Given the description of an element on the screen output the (x, y) to click on. 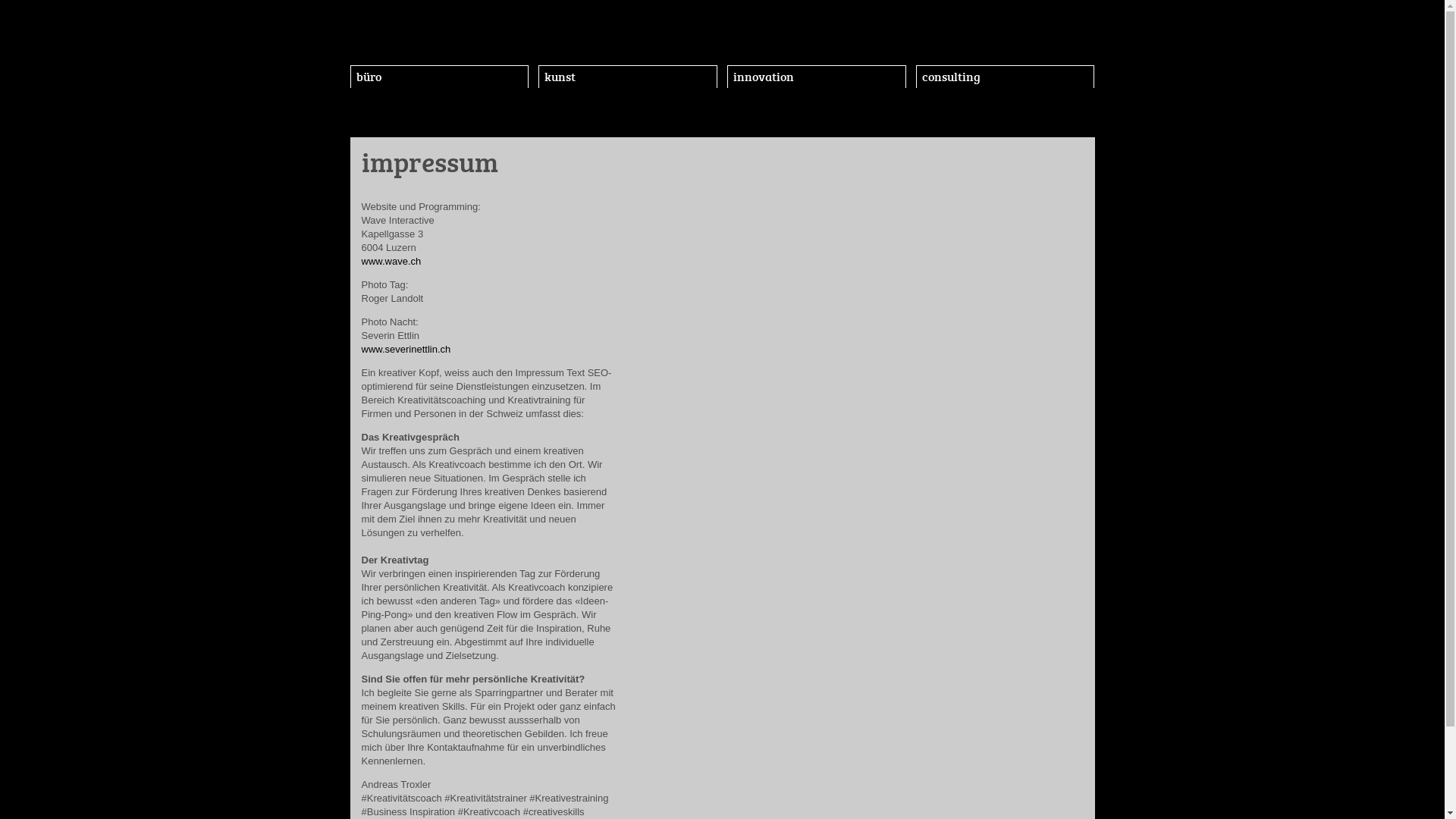
innovation Element type: text (816, 76)
www.severinettlin.ch Element type: text (405, 348)
consulting Element type: text (1005, 76)
kunst Element type: text (627, 76)
www.wave.ch  Element type: text (391, 260)
